Given the description of an element on the screen output the (x, y) to click on. 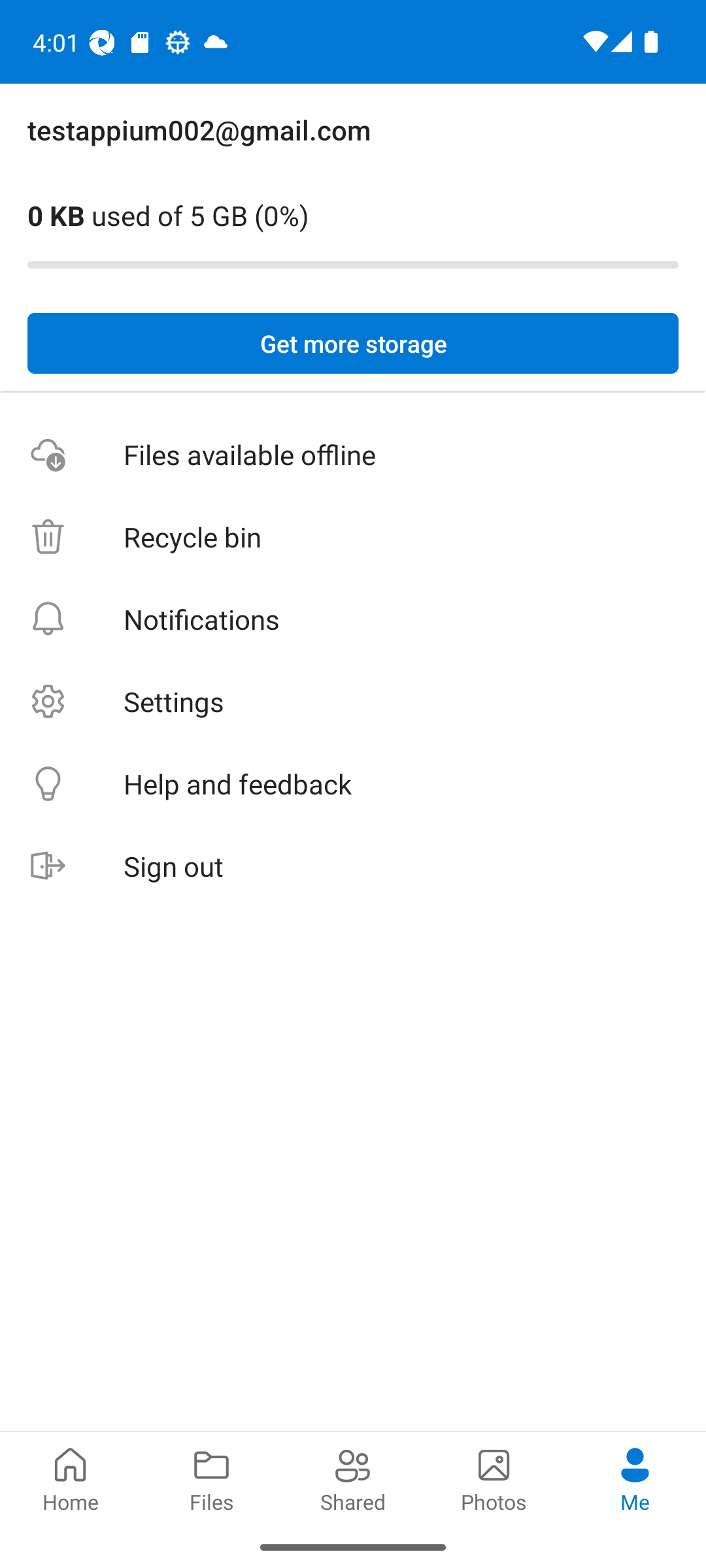
Get more storage (352, 343)
Files available offline (353, 454)
Recycle bin (353, 536)
Notifications (353, 619)
Settings (353, 701)
Help and feedback (353, 783)
Sign out (353, 865)
Home pivot Home (70, 1478)
Files pivot Files (211, 1478)
Shared pivot Shared (352, 1478)
Photos pivot Photos (493, 1478)
